Given the description of an element on the screen output the (x, y) to click on. 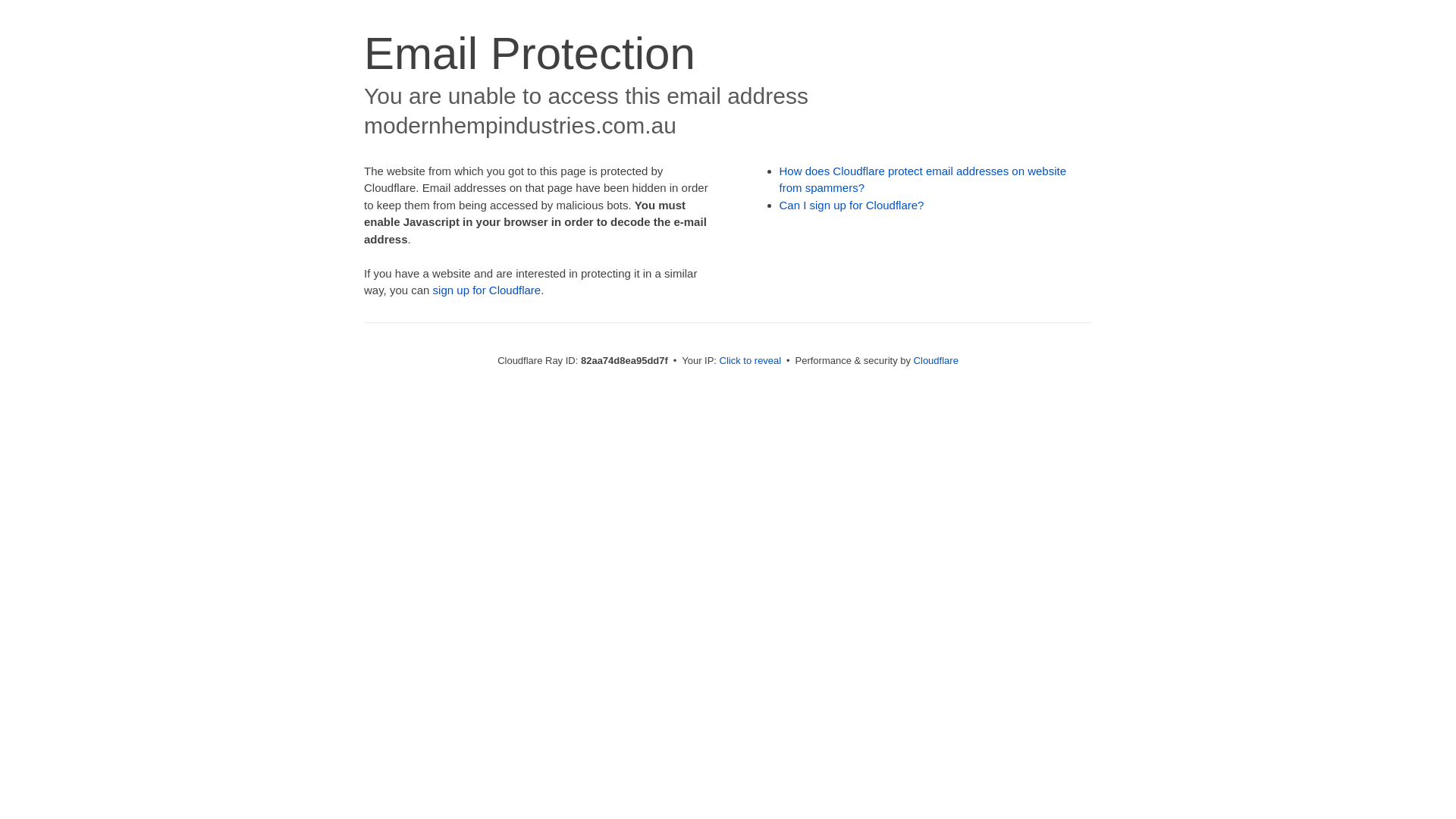
Click to reveal Element type: text (750, 360)
Cloudflare Element type: text (935, 360)
sign up for Cloudflare Element type: text (487, 289)
Can I sign up for Cloudflare? Element type: text (851, 204)
